Given the description of an element on the screen output the (x, y) to click on. 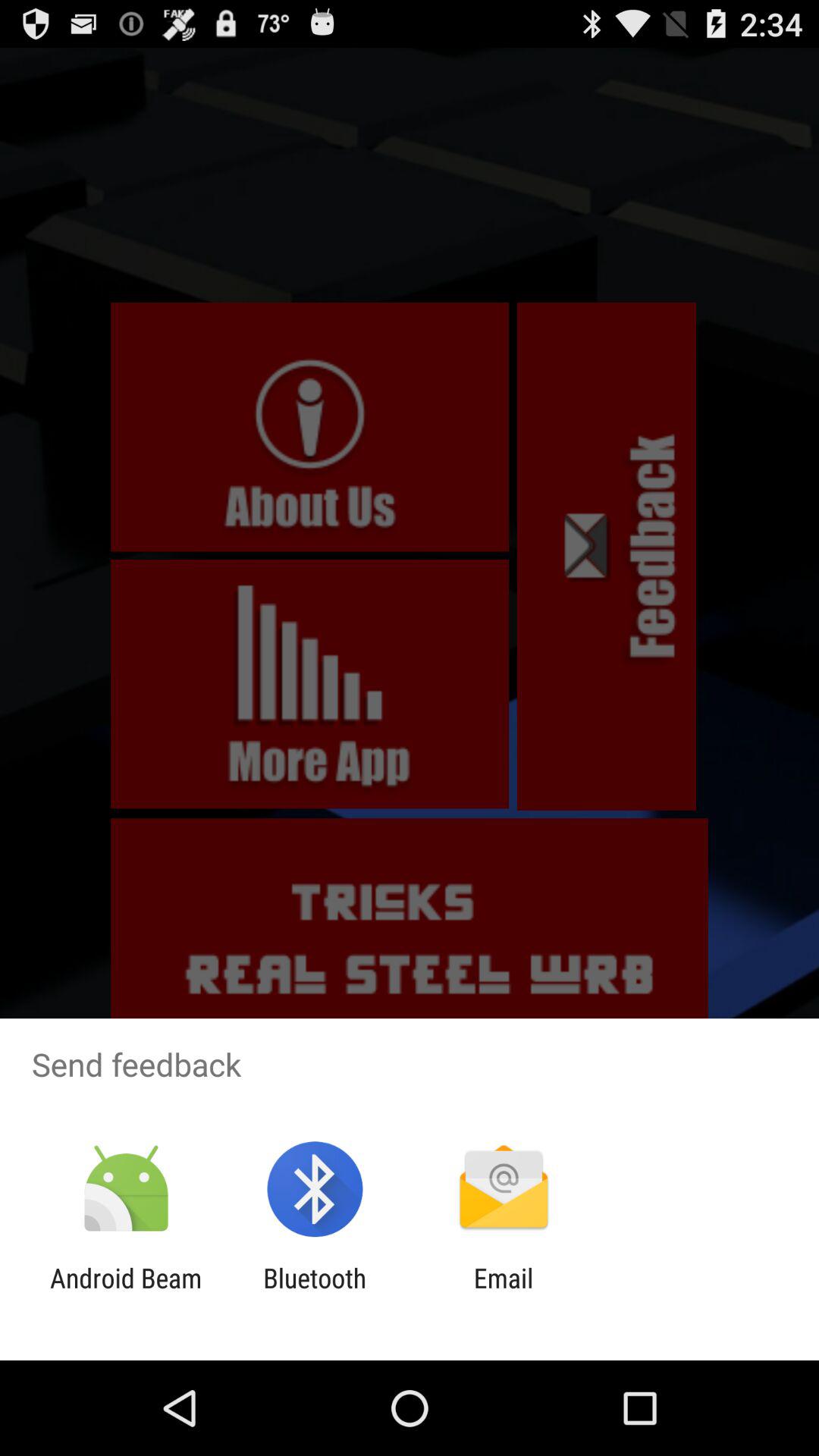
select the bluetooth item (314, 1293)
